Given the description of an element on the screen output the (x, y) to click on. 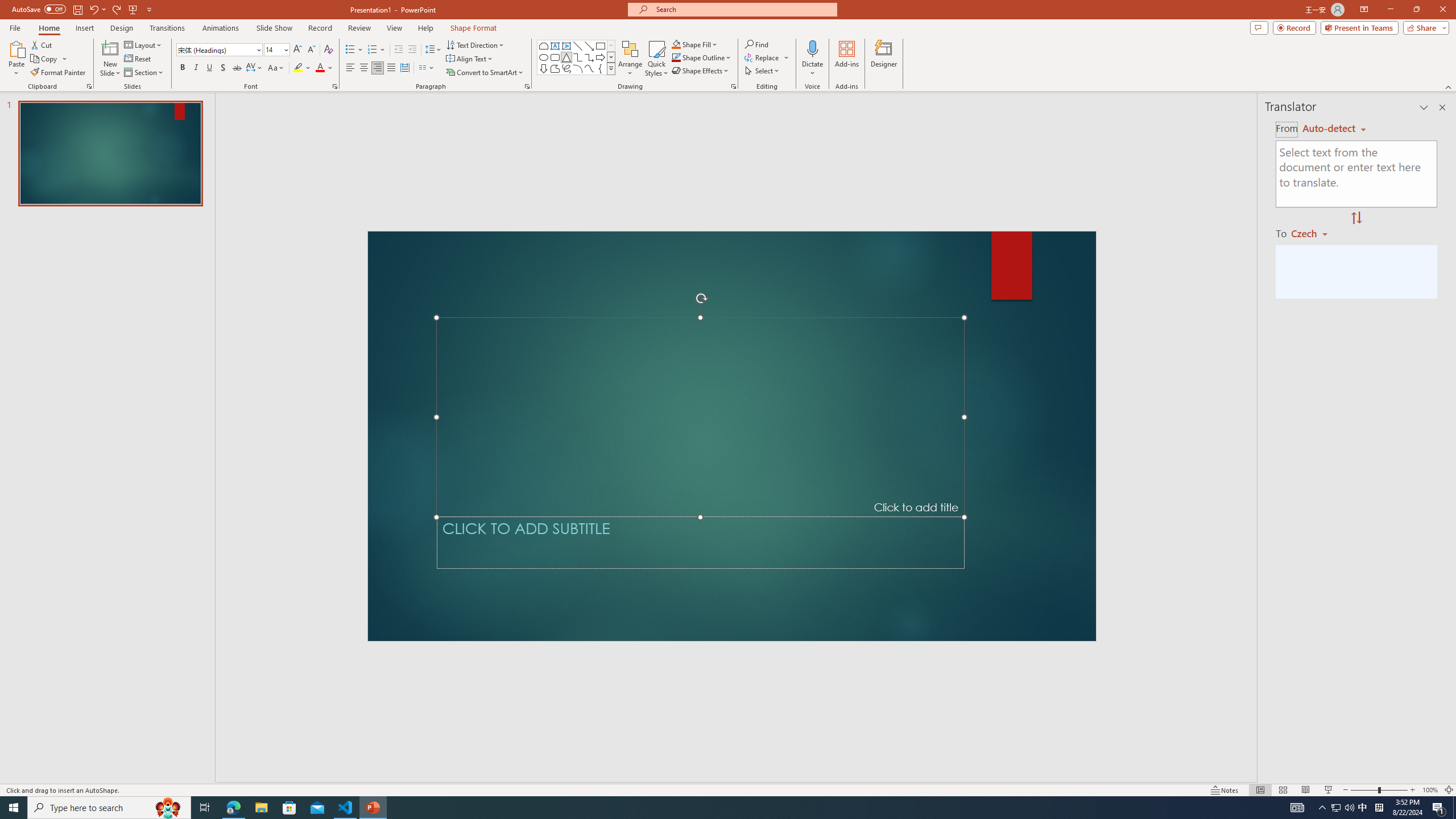
Shape Fill Orange, Accent 2 (675, 44)
